Given the description of an element on the screen output the (x, y) to click on. 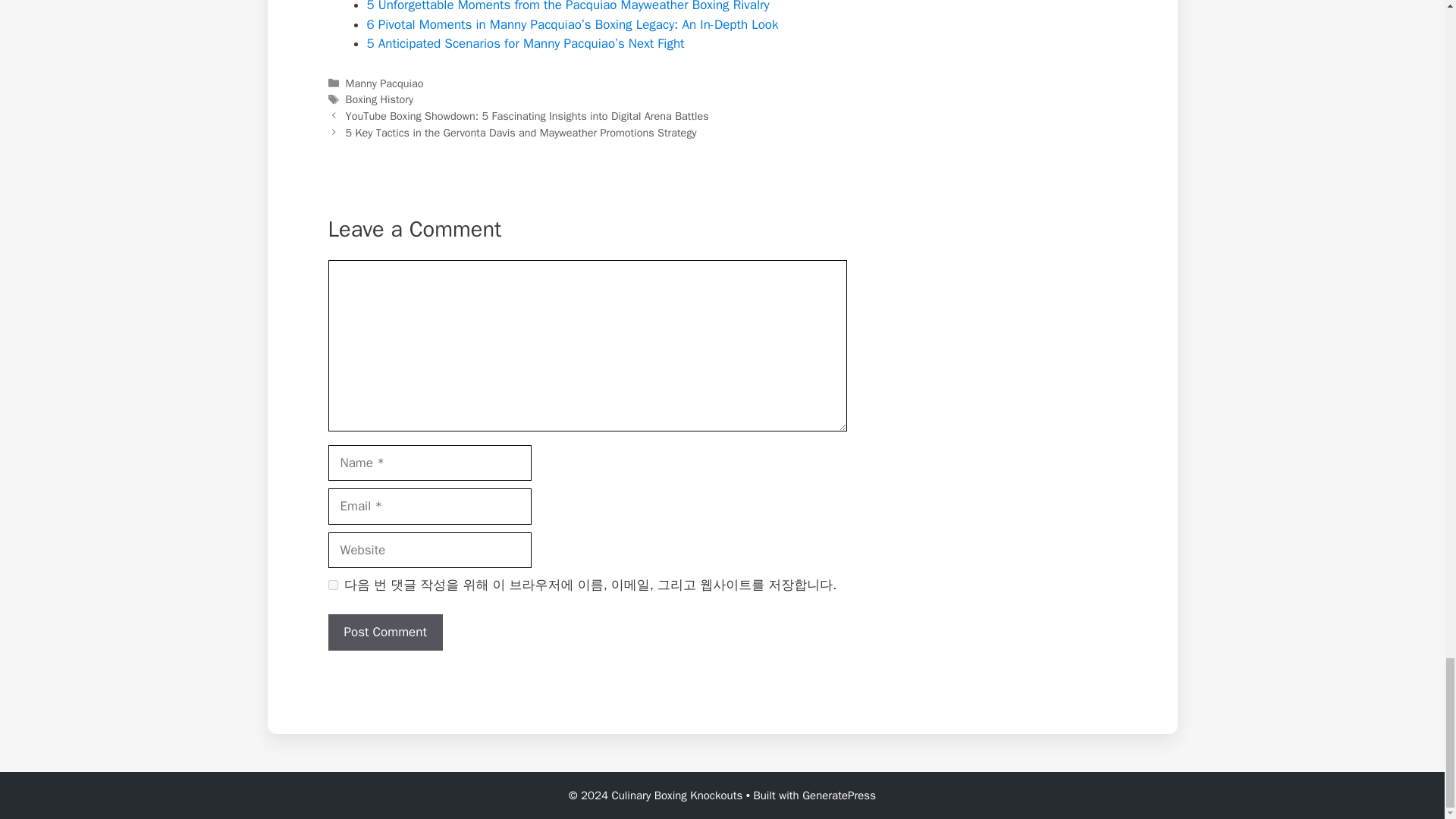
yes (332, 584)
Post Comment (384, 632)
Manny Pacquiao (384, 83)
Post Comment (384, 632)
Boxing History (379, 99)
